Given the description of an element on the screen output the (x, y) to click on. 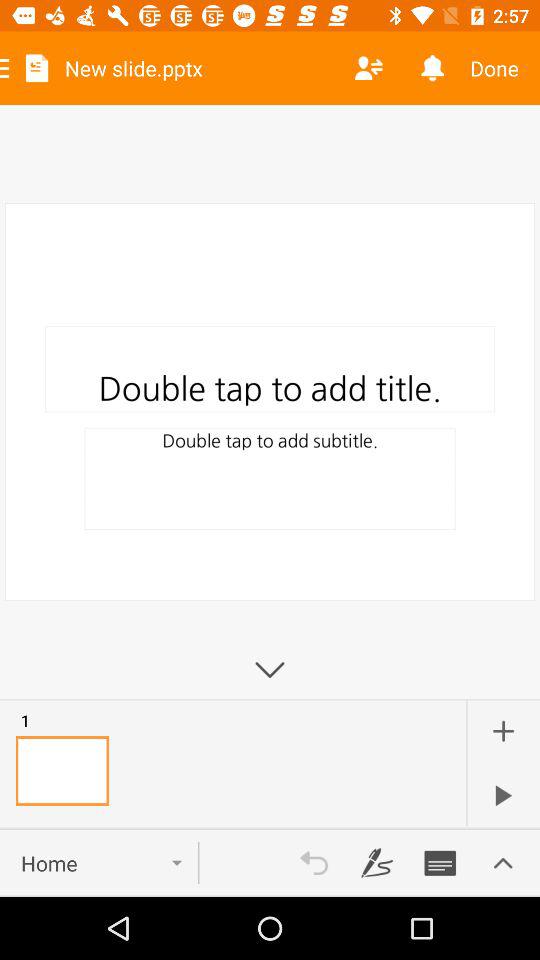
play button (503, 795)
